Given the description of an element on the screen output the (x, y) to click on. 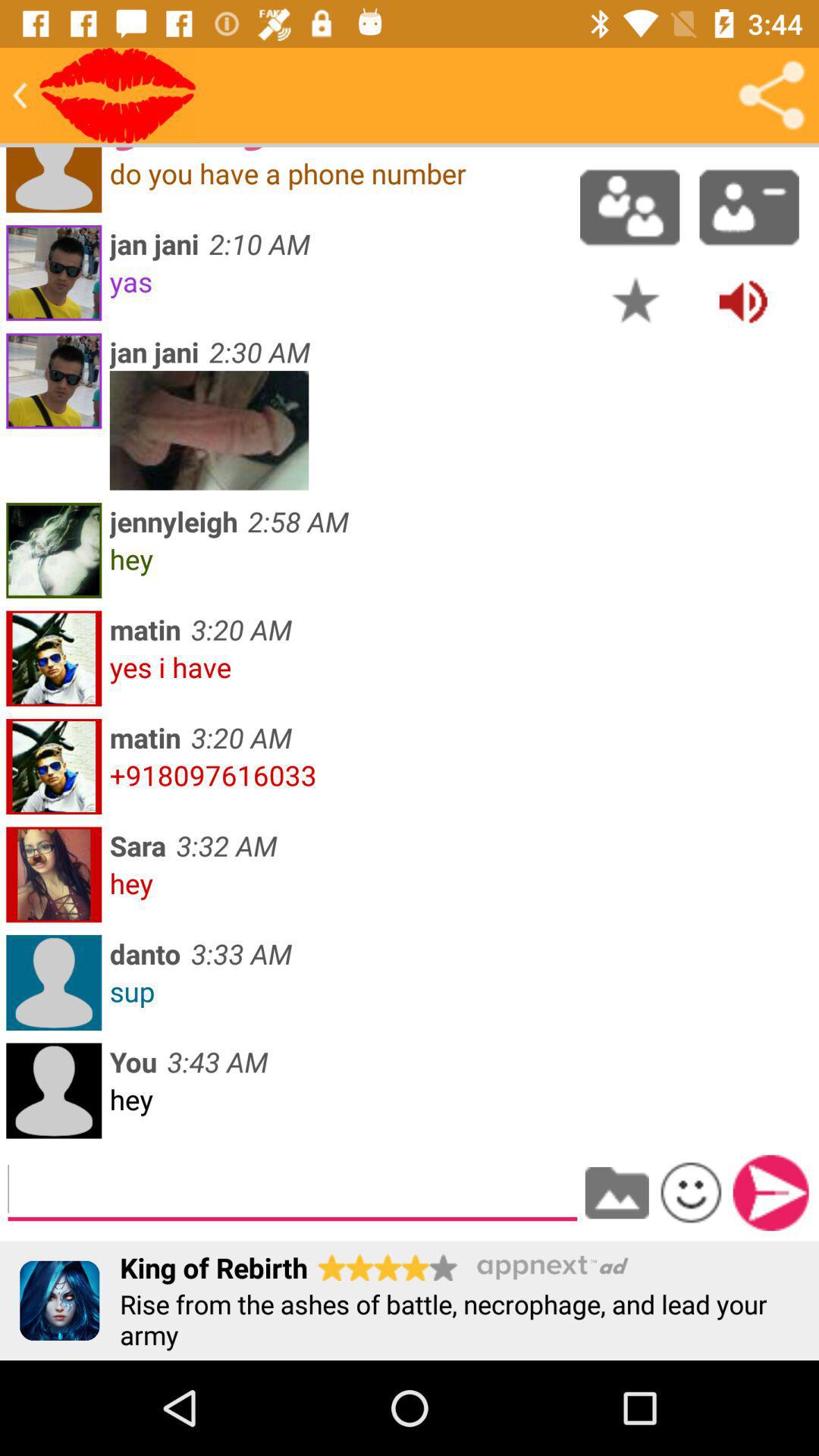
add friends (629, 207)
